Given the description of an element on the screen output the (x, y) to click on. 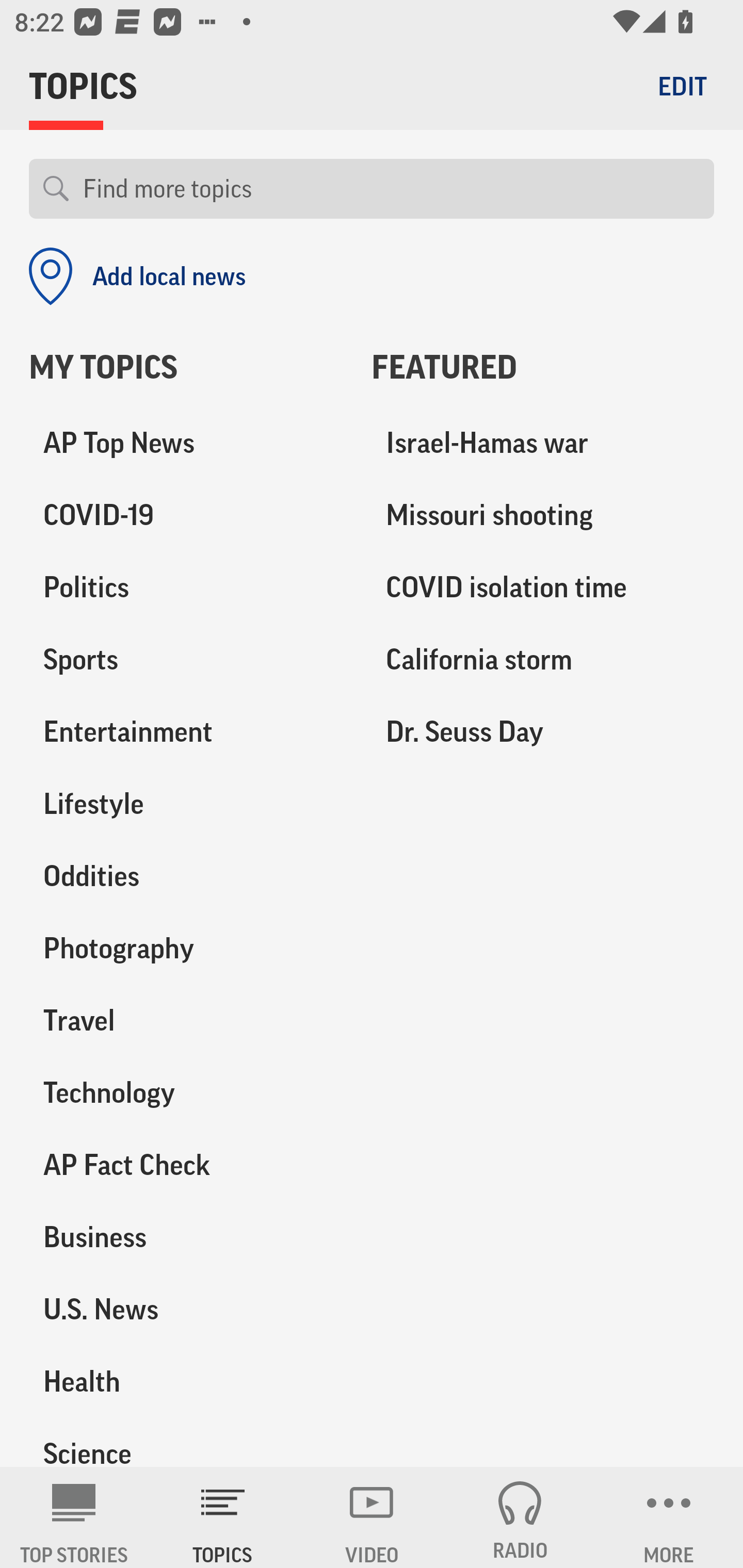
EDIT (682, 86)
Find more topics (391, 188)
Add local news (137, 276)
AP Top News (185, 443)
Israel-Hamas war (542, 443)
COVID-19 (185, 515)
Missouri shooting (542, 515)
Politics (185, 587)
COVID isolation time (542, 587)
Sports (185, 660)
California storm (542, 660)
Entertainment (185, 732)
Dr. Seuss Day (542, 732)
Lifestyle (185, 804)
Oddities (185, 876)
Photography (185, 948)
Travel (185, 1020)
Technology (185, 1092)
AP Fact Check (185, 1164)
Business (185, 1237)
U.S. News (185, 1309)
Health (185, 1381)
Science (185, 1442)
AP News TOP STORIES (74, 1517)
TOPICS (222, 1517)
VIDEO (371, 1517)
RADIO (519, 1517)
MORE (668, 1517)
